Given the description of an element on the screen output the (x, y) to click on. 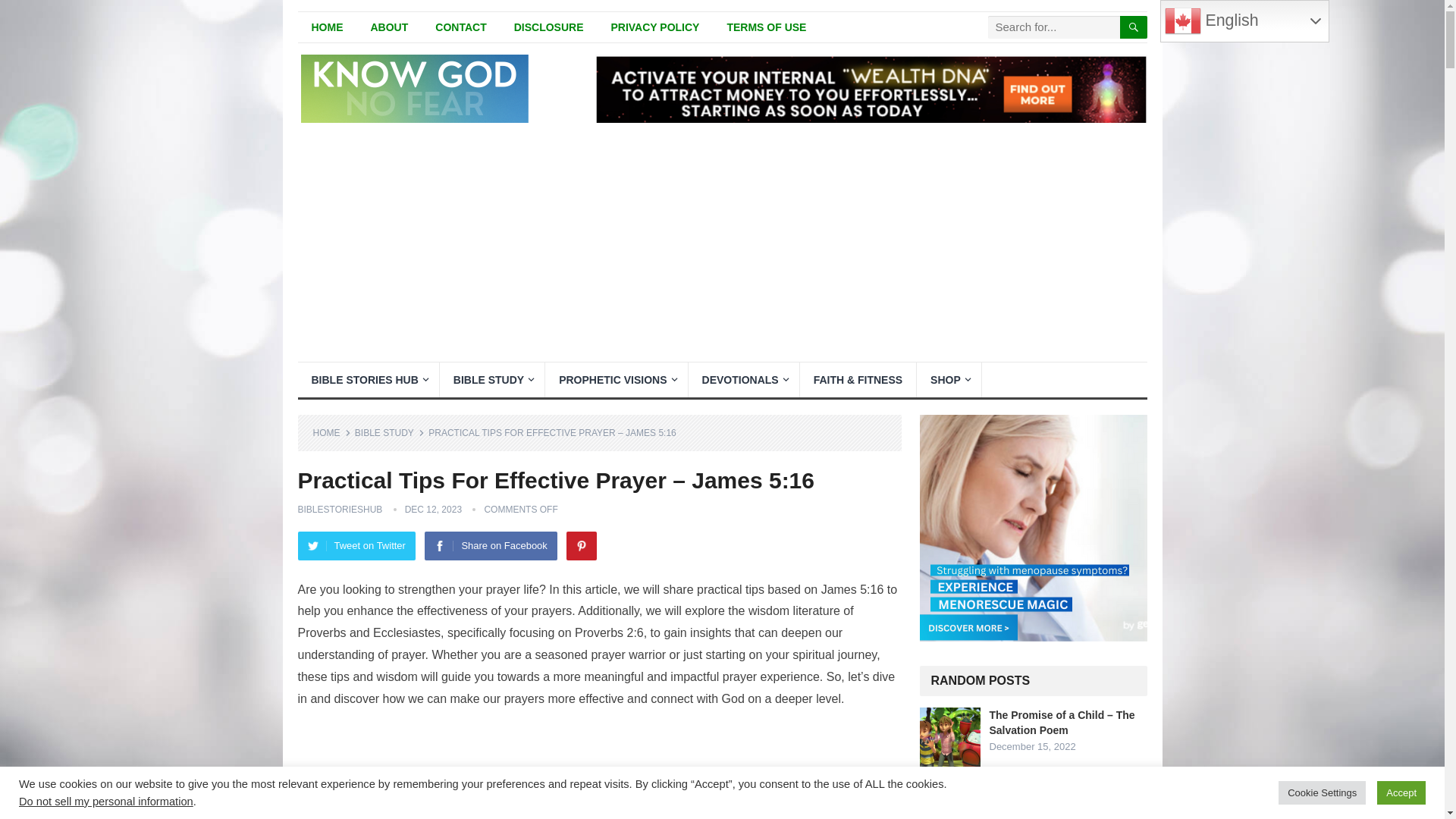
DEVOTIONALS (743, 379)
BIBLESTORIESHUB (339, 509)
BIBLE STUDY (390, 432)
CONTACT (460, 27)
HOME (331, 432)
BIBLE STORIES HUB (367, 379)
HOME (326, 27)
Posts by biblestorieshub (339, 509)
BIBLE STUDY (491, 379)
View all posts in Bible Study (390, 432)
